Given the description of an element on the screen output the (x, y) to click on. 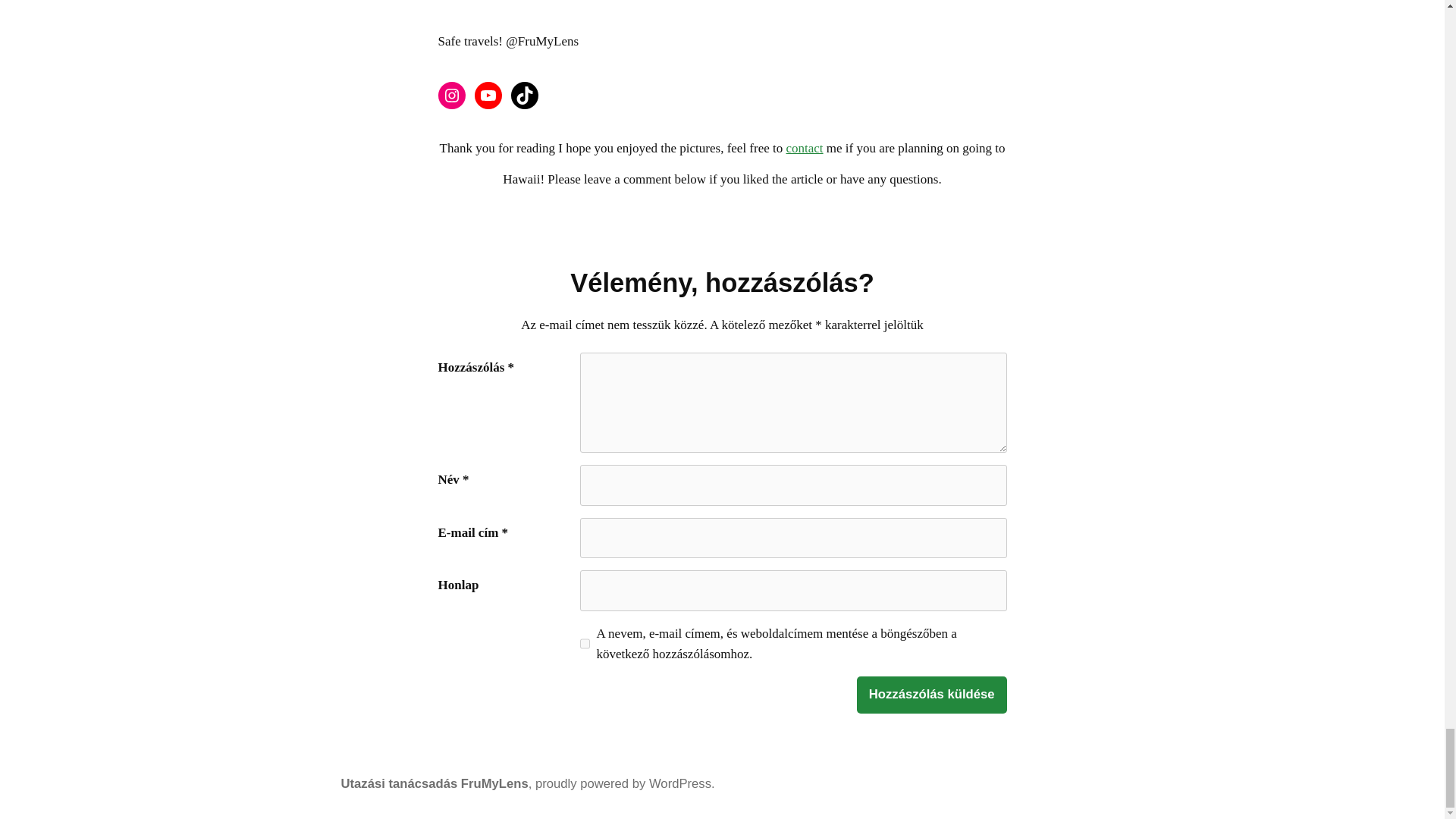
TikTok (524, 94)
YouTube (488, 94)
proudly powered by WordPress (623, 783)
Instagram (451, 94)
contact (804, 147)
